Given the description of an element on the screen output the (x, y) to click on. 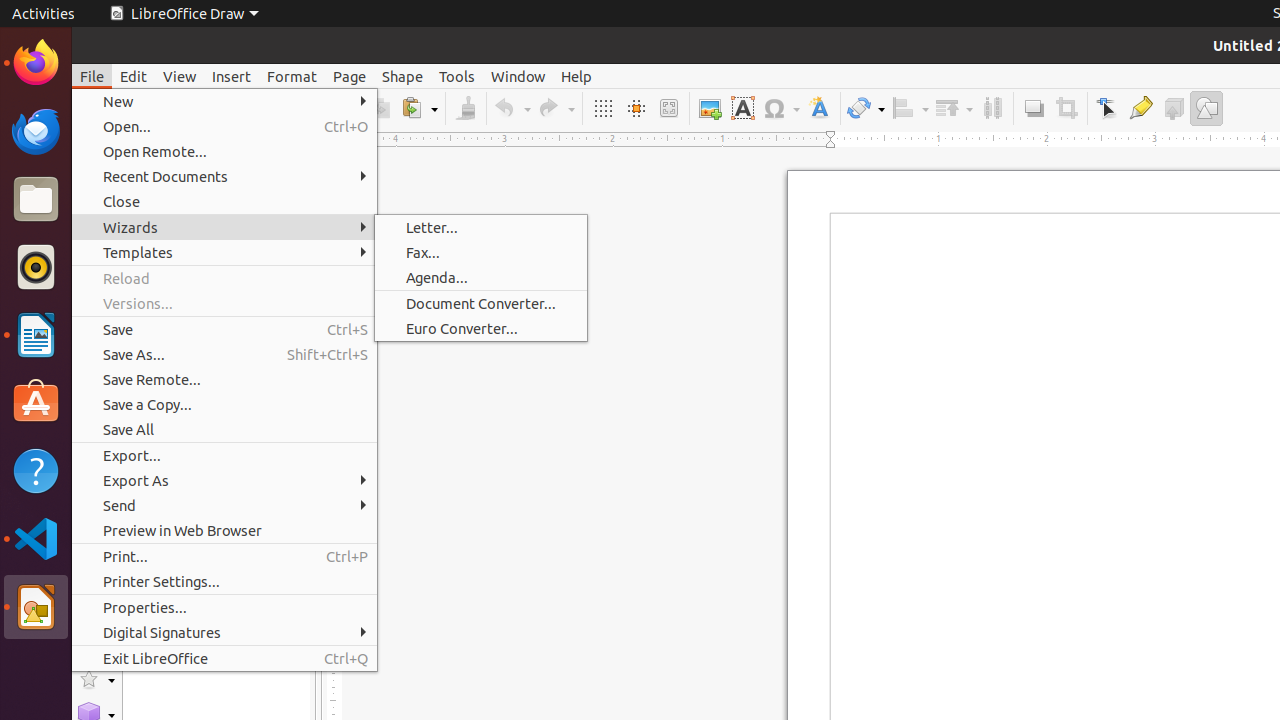
Toggle Extrusion Element type: push-button (1173, 108)
Edit Points Element type: push-button (1107, 108)
Shape Element type: menu (402, 76)
Save All Element type: menu-item (224, 429)
Save As... Element type: menu-item (224, 354)
